Given the description of an element on the screen output the (x, y) to click on. 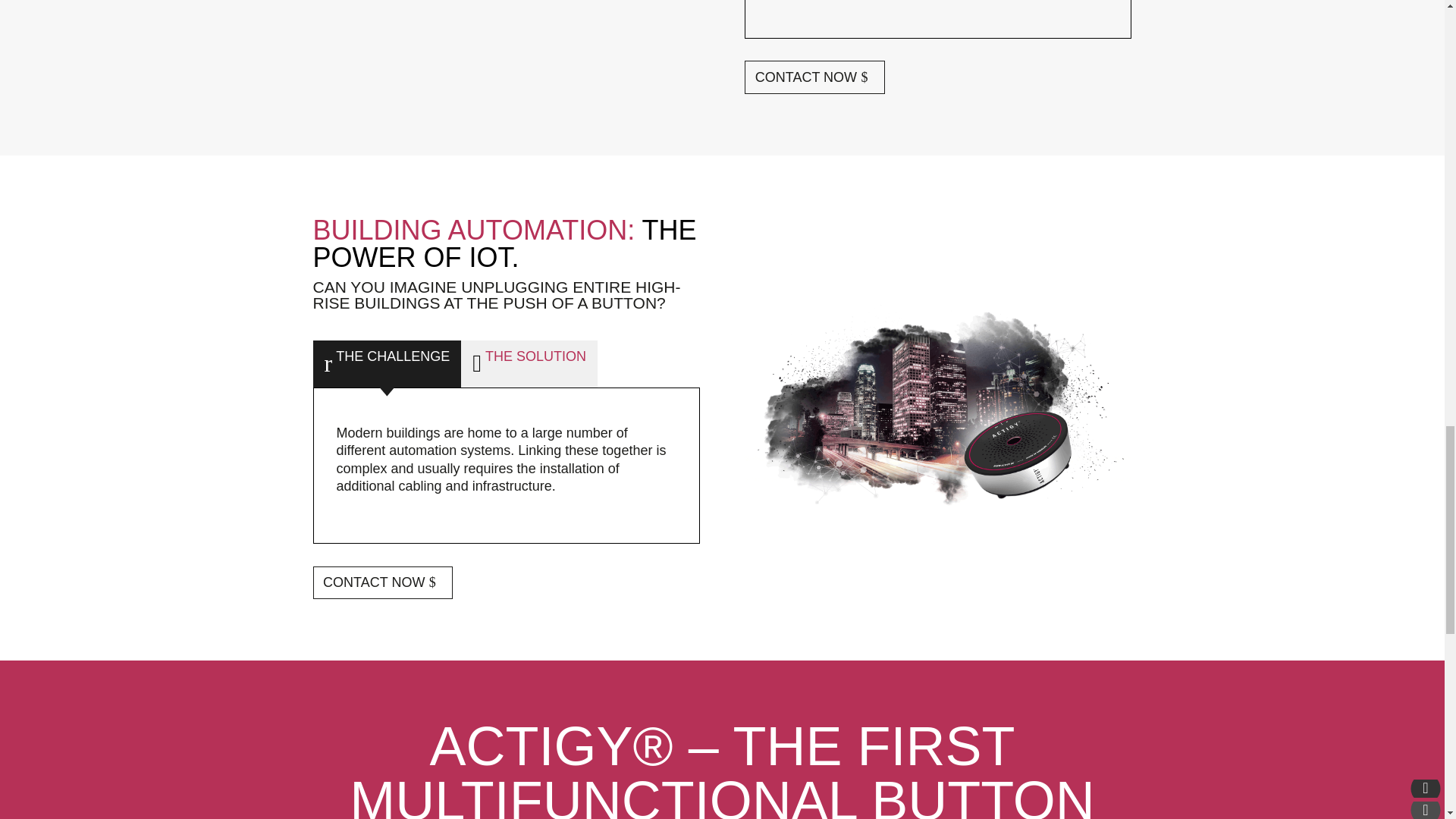
actigy-usecase-automation (937, 407)
